Given the description of an element on the screen output the (x, y) to click on. 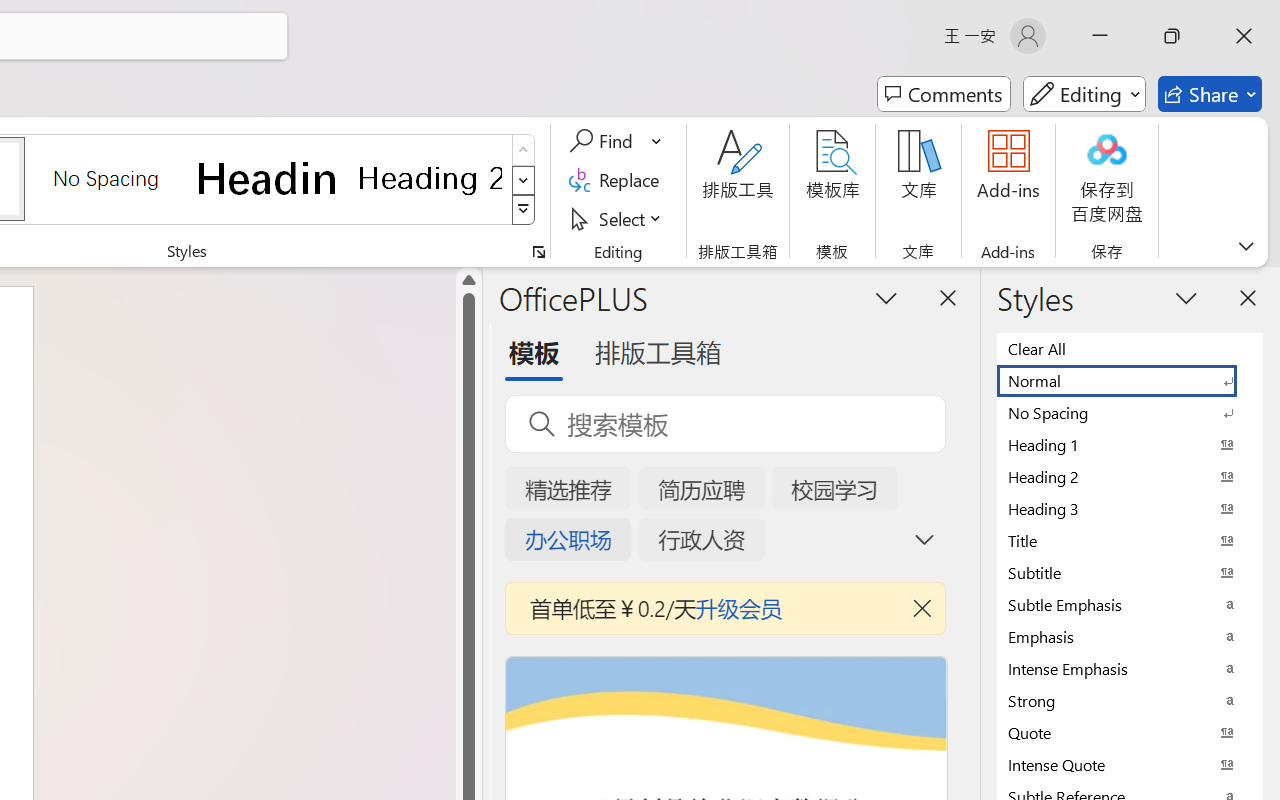
Strong (1130, 700)
Line up (468, 279)
More Options (657, 141)
No Spacing (1130, 412)
Intense Quote (1130, 764)
Minimize (1099, 36)
Replace... (617, 179)
Task Pane Options (886, 297)
